Given the description of an element on the screen output the (x, y) to click on. 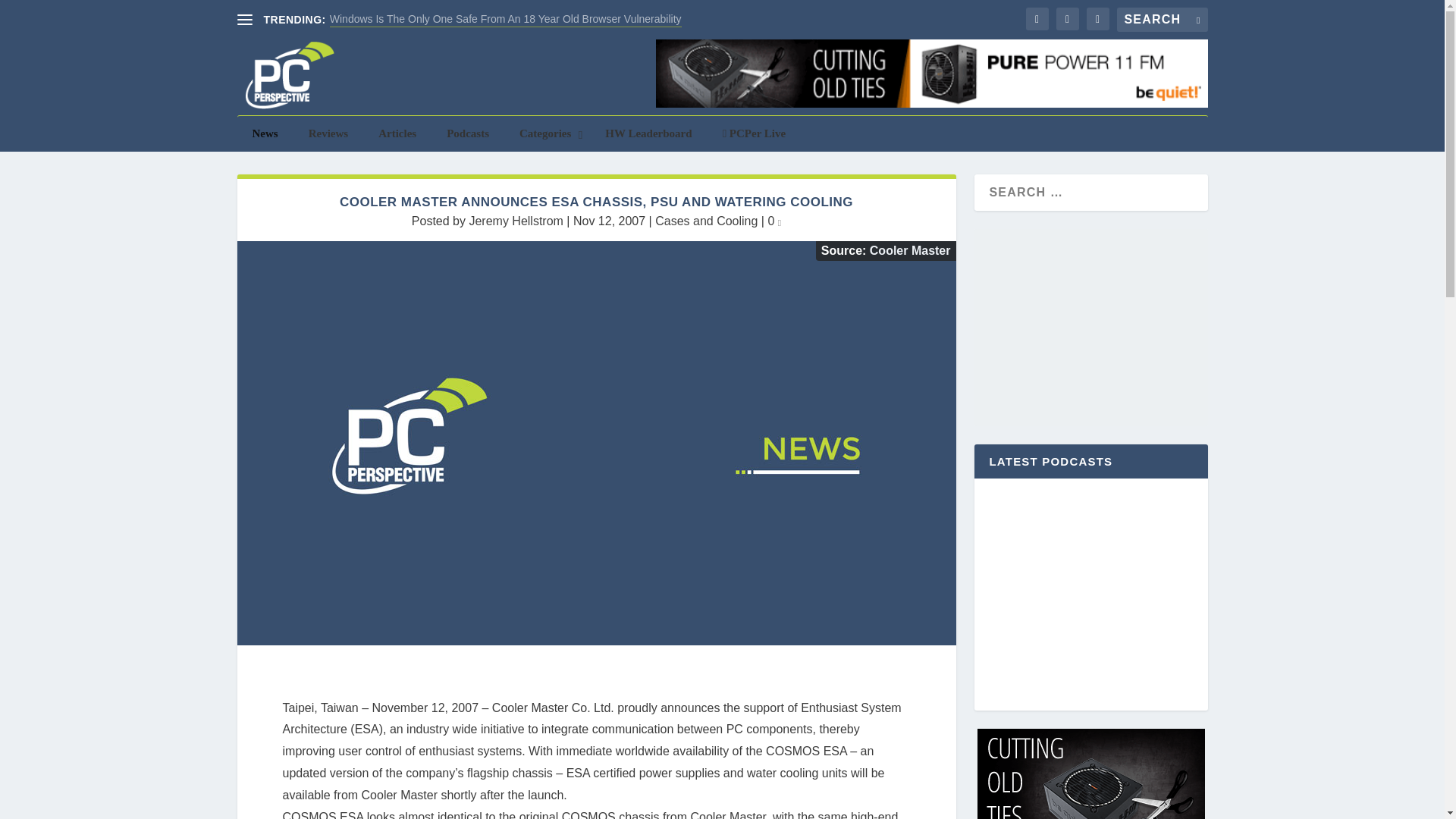
Reviews (329, 133)
Categories (546, 133)
Posts by Jeremy Hellstrom (515, 220)
Articles (396, 133)
PCPer Live (754, 133)
Podcasts (466, 133)
Search for: (1161, 19)
HW Leaderboard (647, 133)
News (263, 133)
